Given the description of an element on the screen output the (x, y) to click on. 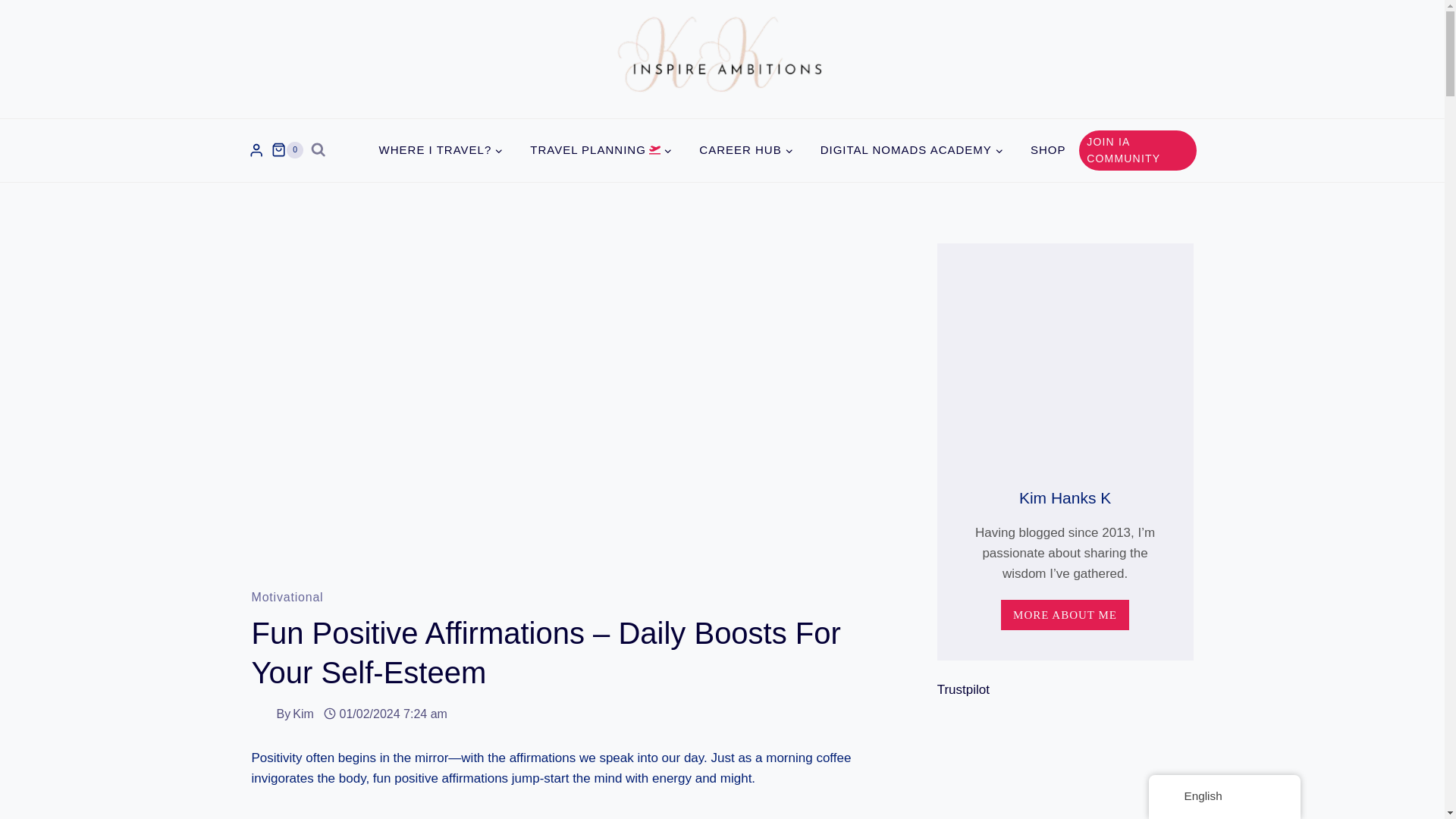
0 (286, 149)
WHERE I TRAVEL? (440, 150)
